Given the description of an element on the screen output the (x, y) to click on. 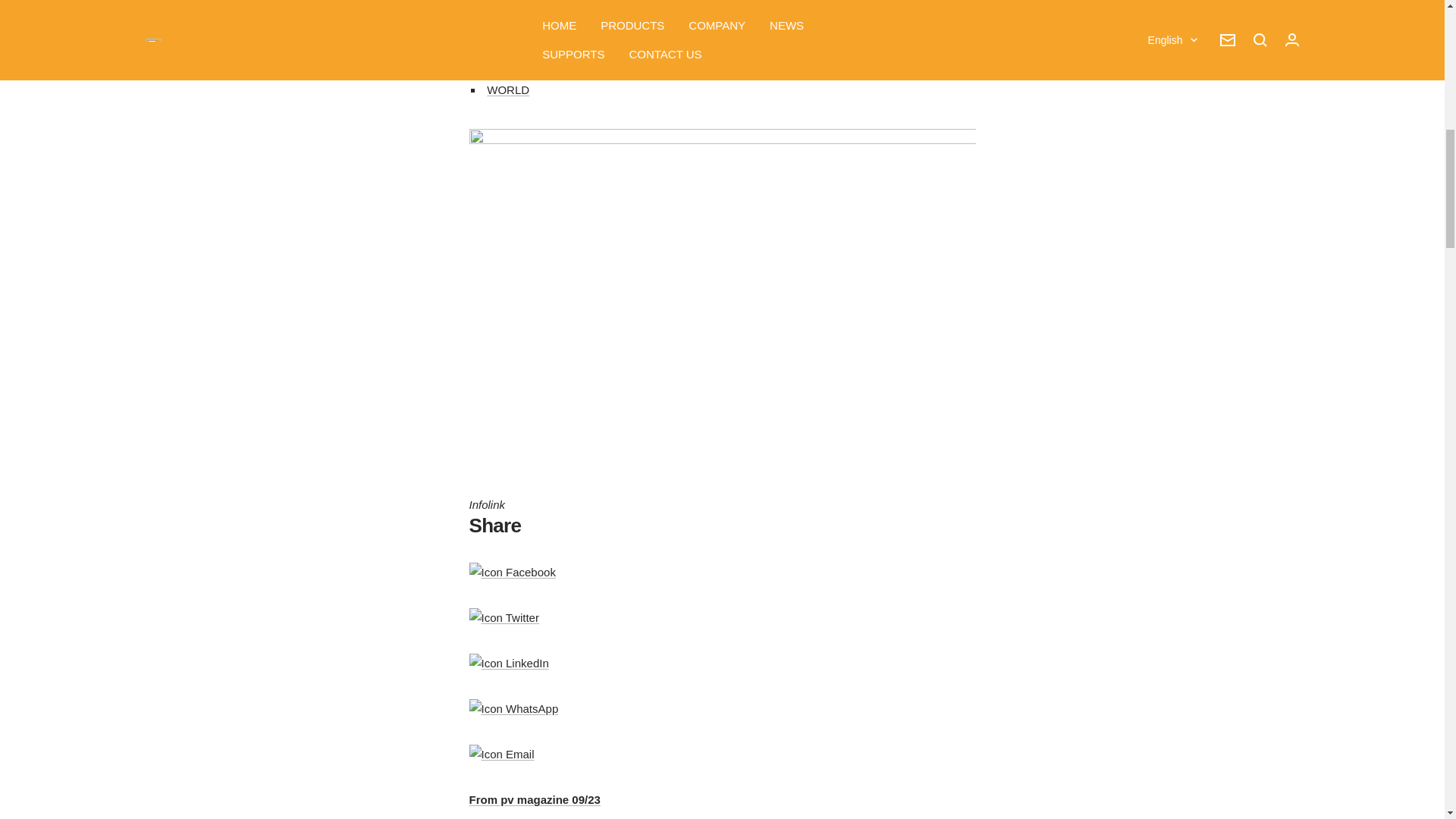
Monday, October 9, 2023, 10:15 am (517, 12)
PV MAGAZINE (608, 12)
Posts by pv magazine (608, 12)
